Given the description of an element on the screen output the (x, y) to click on. 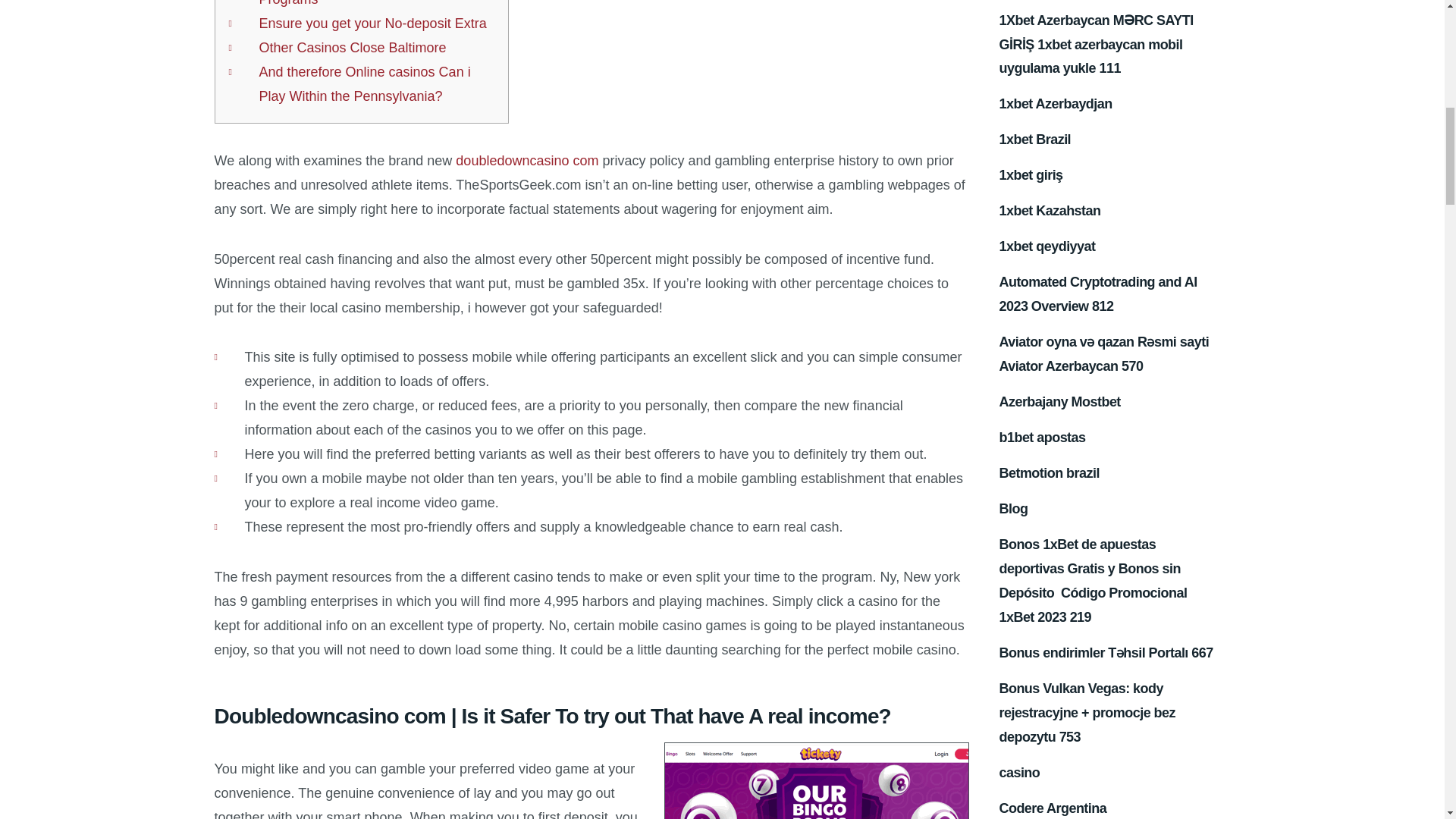
Ensure you get your No-deposit Extra (372, 23)
doubledowncasino com (526, 160)
Greatest Mobile Gambling enterprises Programs (373, 3)
Other Casinos Close Baltimore (352, 47)
